Given the description of an element on the screen output the (x, y) to click on. 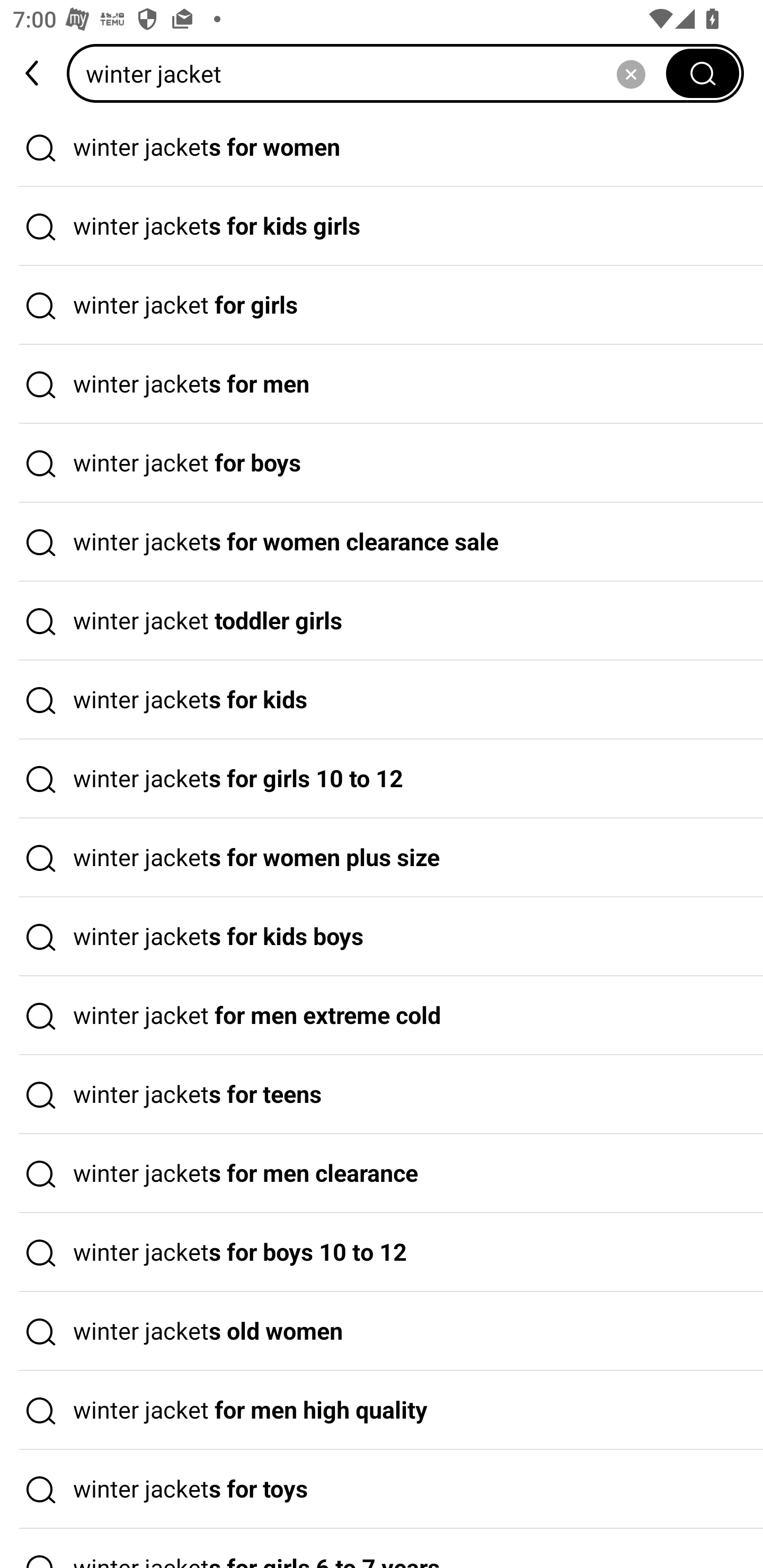
back (33, 72)
winter jacket (372, 73)
Delete search history (630, 73)
winter jackets for women (381, 147)
winter jackets for kids girls (381, 226)
winter jacket for girls (381, 305)
winter jackets for men (381, 383)
winter jacket for boys (381, 463)
winter jackets for women clearance sale (381, 542)
winter jacket toddler girls (381, 620)
winter jackets for kids (381, 700)
winter jackets for girls 10 to 12 (381, 779)
winter jackets for women plus size (381, 857)
winter jackets for kids boys (381, 936)
winter jacket for men extreme cold (381, 1015)
winter jackets for teens (381, 1094)
winter jackets for men clearance (381, 1173)
winter jackets for boys 10 to 12 (381, 1252)
winter jackets old women (381, 1331)
winter jacket for men high quality (381, 1410)
winter jackets for toys (381, 1489)
